Given the description of an element on the screen output the (x, y) to click on. 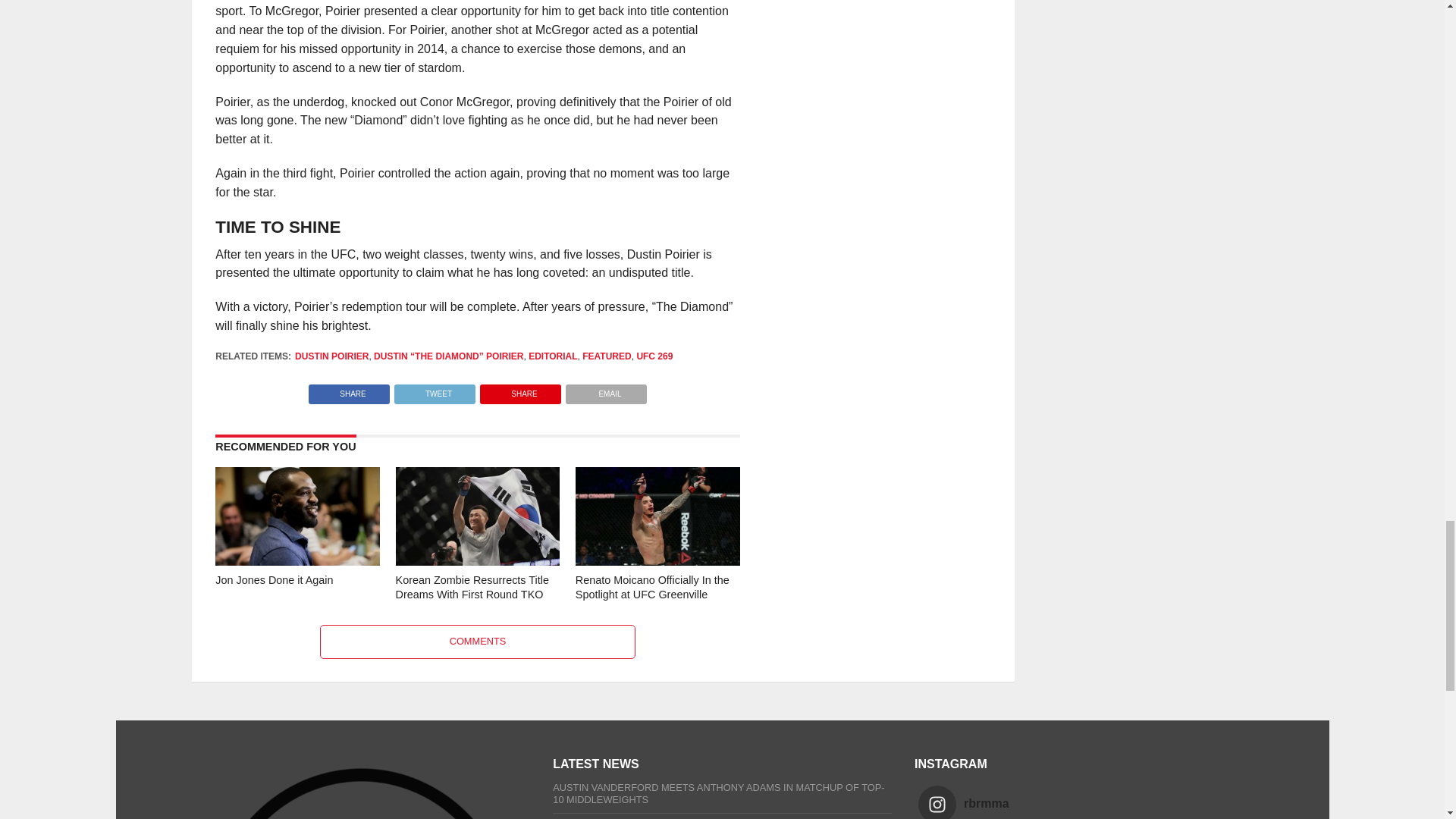
Pin This Post (520, 390)
Jon Jones Done it Again (297, 562)
Korean Zombie Resurrects Title Dreams With First Round TKO (478, 562)
Renato Moicano Officially In the Spotlight at UFC Greenville (657, 562)
Share on Facebook (349, 390)
Tweet This Post (434, 390)
